Given the description of an element on the screen output the (x, y) to click on. 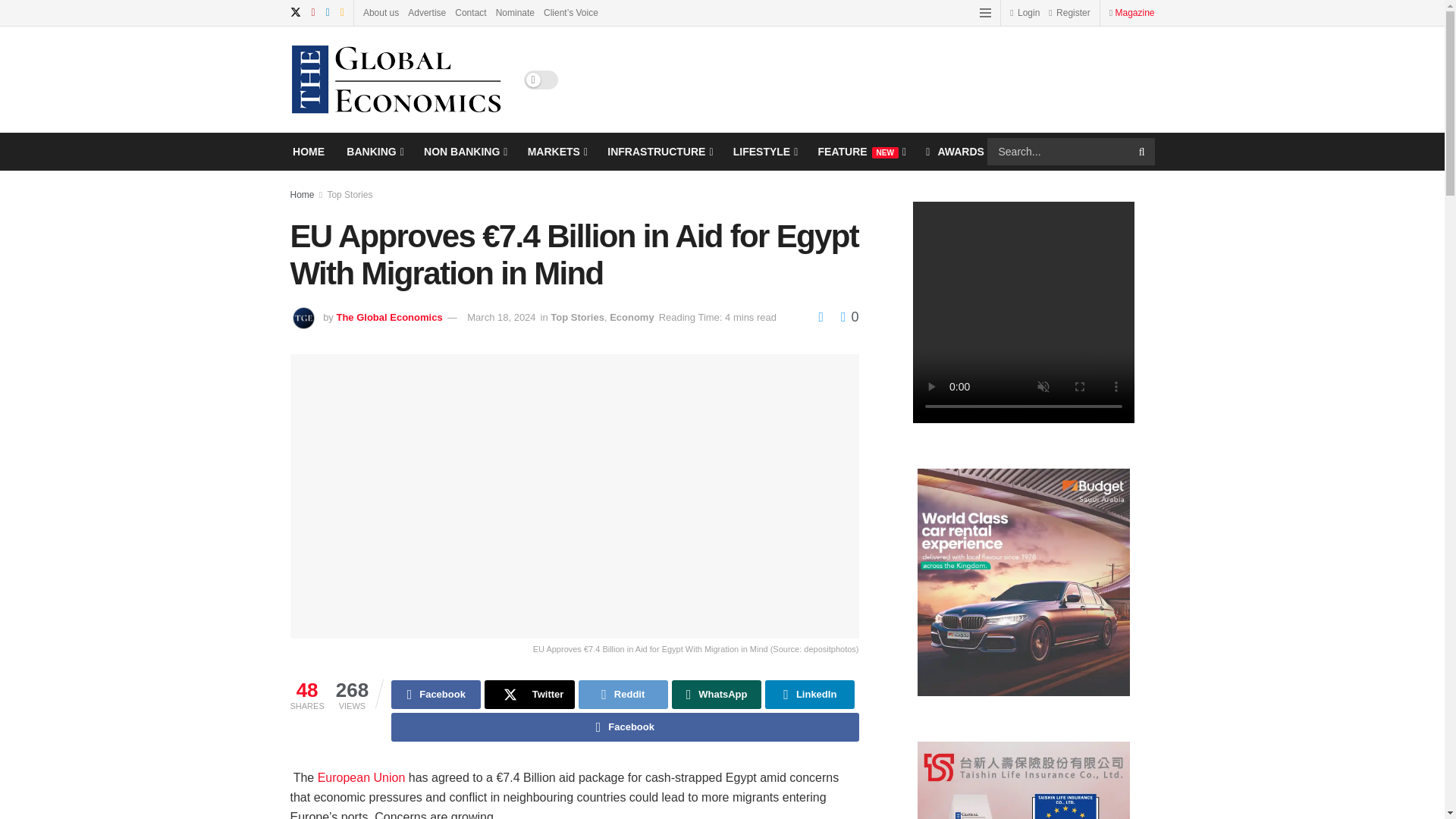
Login (1024, 12)
Contact (470, 12)
About us (380, 12)
MARKETS (556, 151)
FEATURENEW (861, 151)
NON BANKING (464, 151)
Register (1068, 12)
AWARDS (955, 151)
HOME (308, 151)
INFRASTRUCTURE (658, 151)
